Given the description of an element on the screen output the (x, y) to click on. 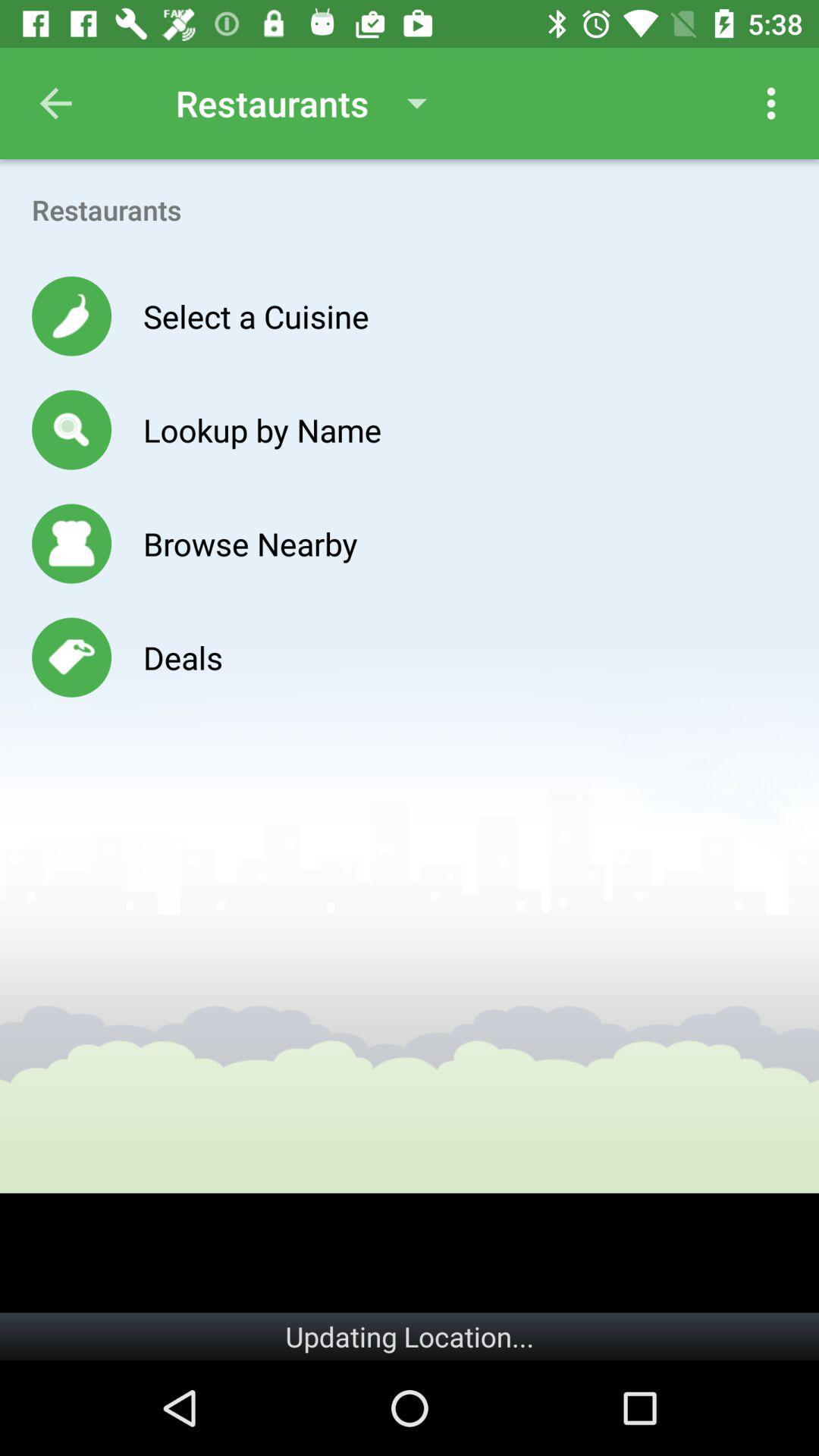
open item next to the restaurants (771, 103)
